Given the description of an element on the screen output the (x, y) to click on. 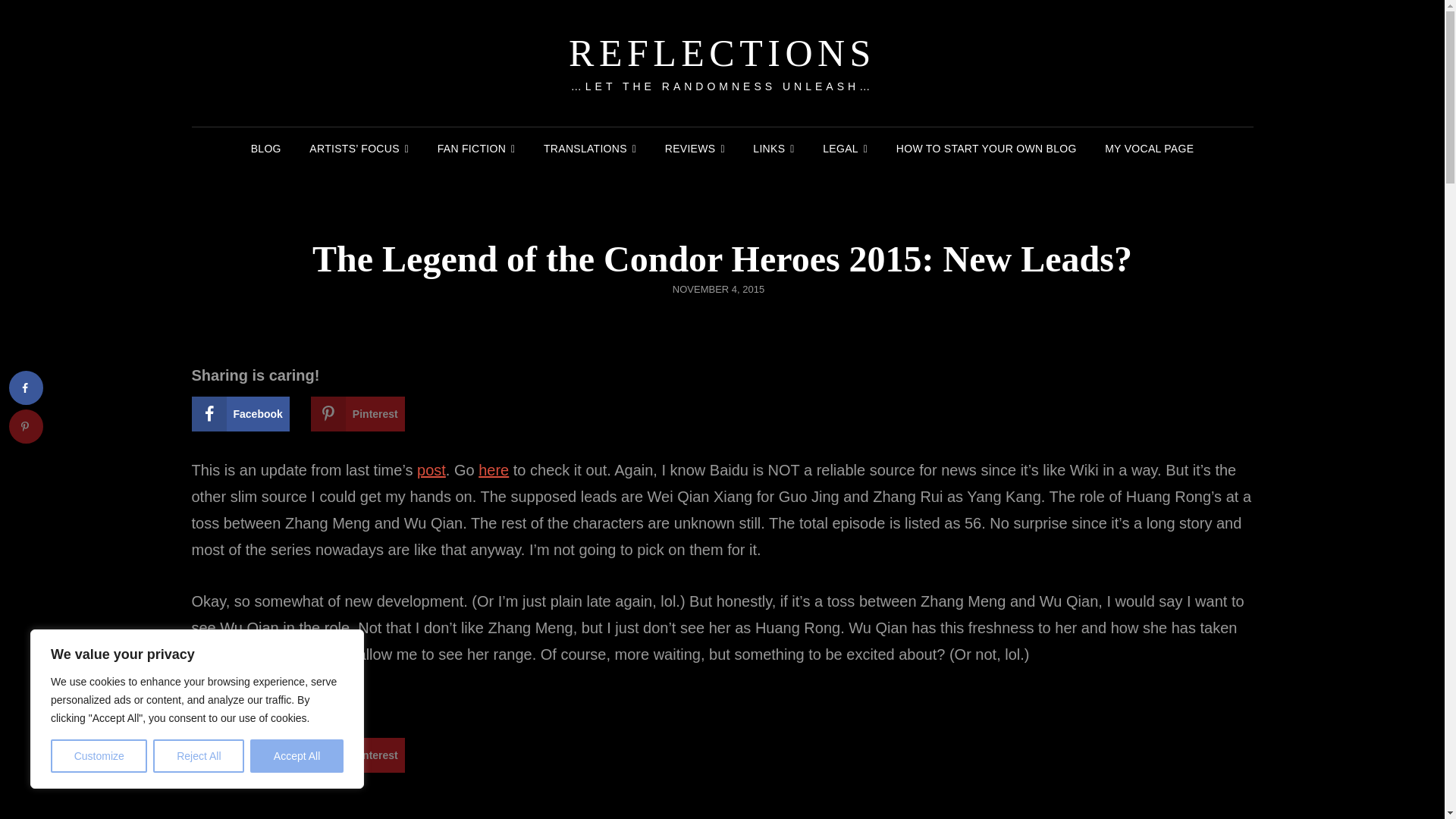
Save to Pinterest (357, 413)
Accept All (296, 756)
Reject All (198, 756)
Save to Pinterest (25, 426)
REFLECTIONS (722, 52)
BLOG (266, 148)
Share on Facebook (239, 755)
Share on Facebook (239, 413)
FAN FICTION (476, 148)
TRANSLATIONS (589, 148)
Save to Pinterest (357, 755)
REVIEWS (694, 148)
Share on Facebook (25, 387)
Customize (98, 756)
